Given the description of an element on the screen output the (x, y) to click on. 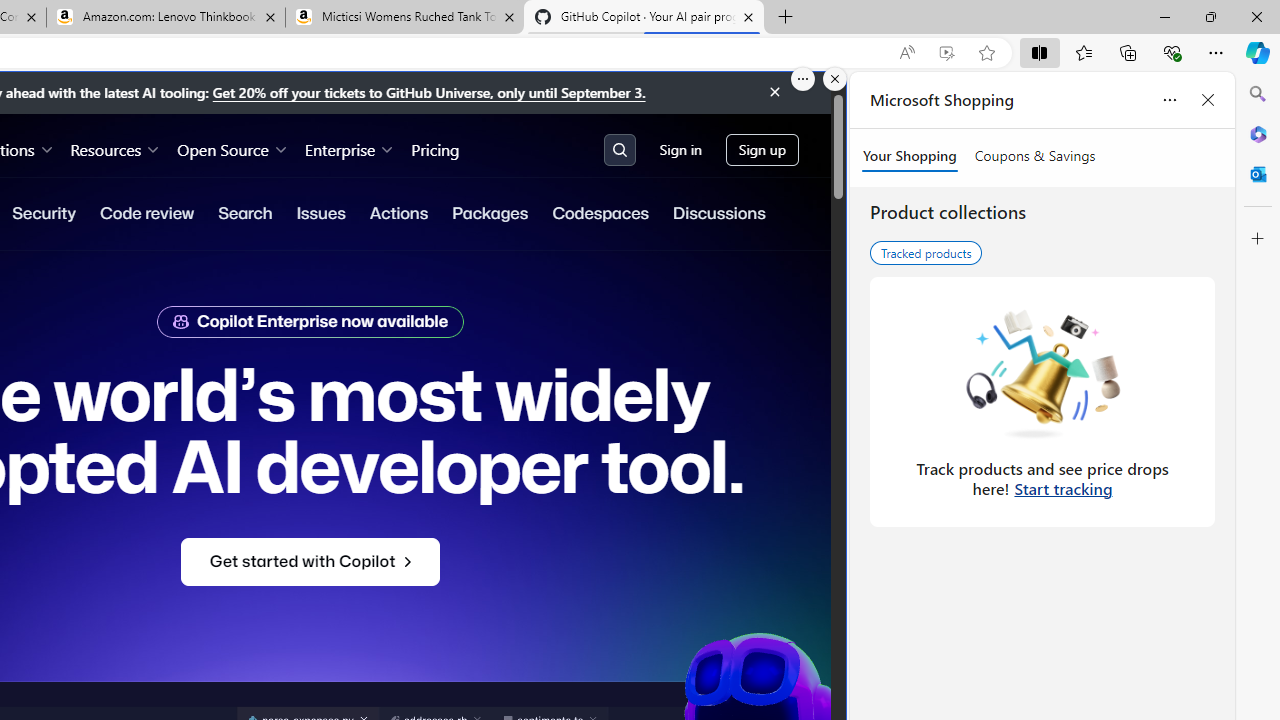
Resources (115, 148)
Sign up (761, 149)
Enhance video (946, 53)
Issues (320, 213)
